Given the description of an element on the screen output the (x, y) to click on. 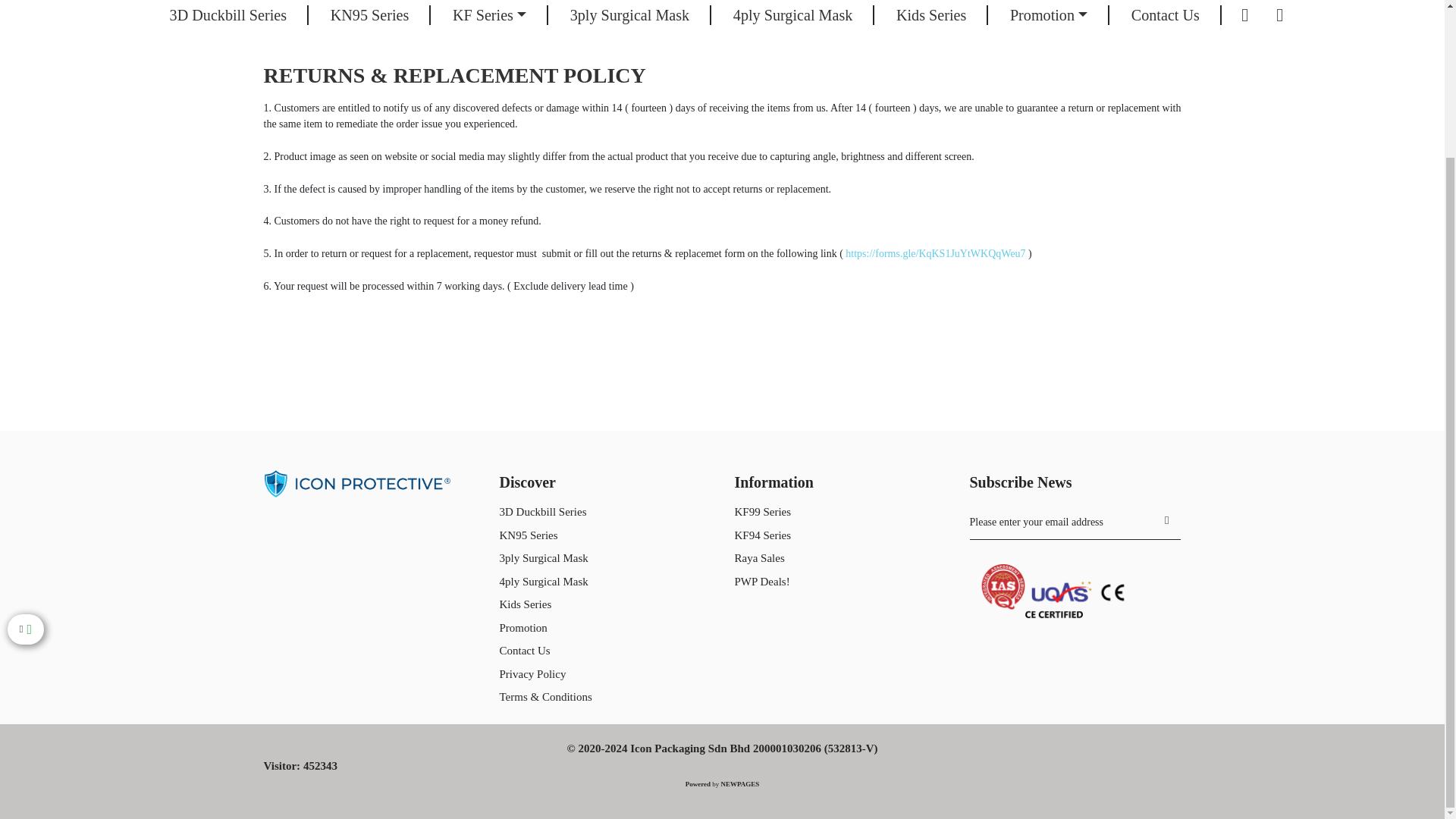
Contact Us (1165, 18)
3ply Surgical Mask (629, 18)
3D Duckbill Series (228, 18)
KF Series (489, 18)
3ply surgical mask (629, 18)
3D Duckbill Series (228, 18)
4ply Surgical Mask (793, 18)
Shopping Cart (1279, 18)
KN95 series (369, 18)
4ply surgical mask (793, 18)
